Given the description of an element on the screen output the (x, y) to click on. 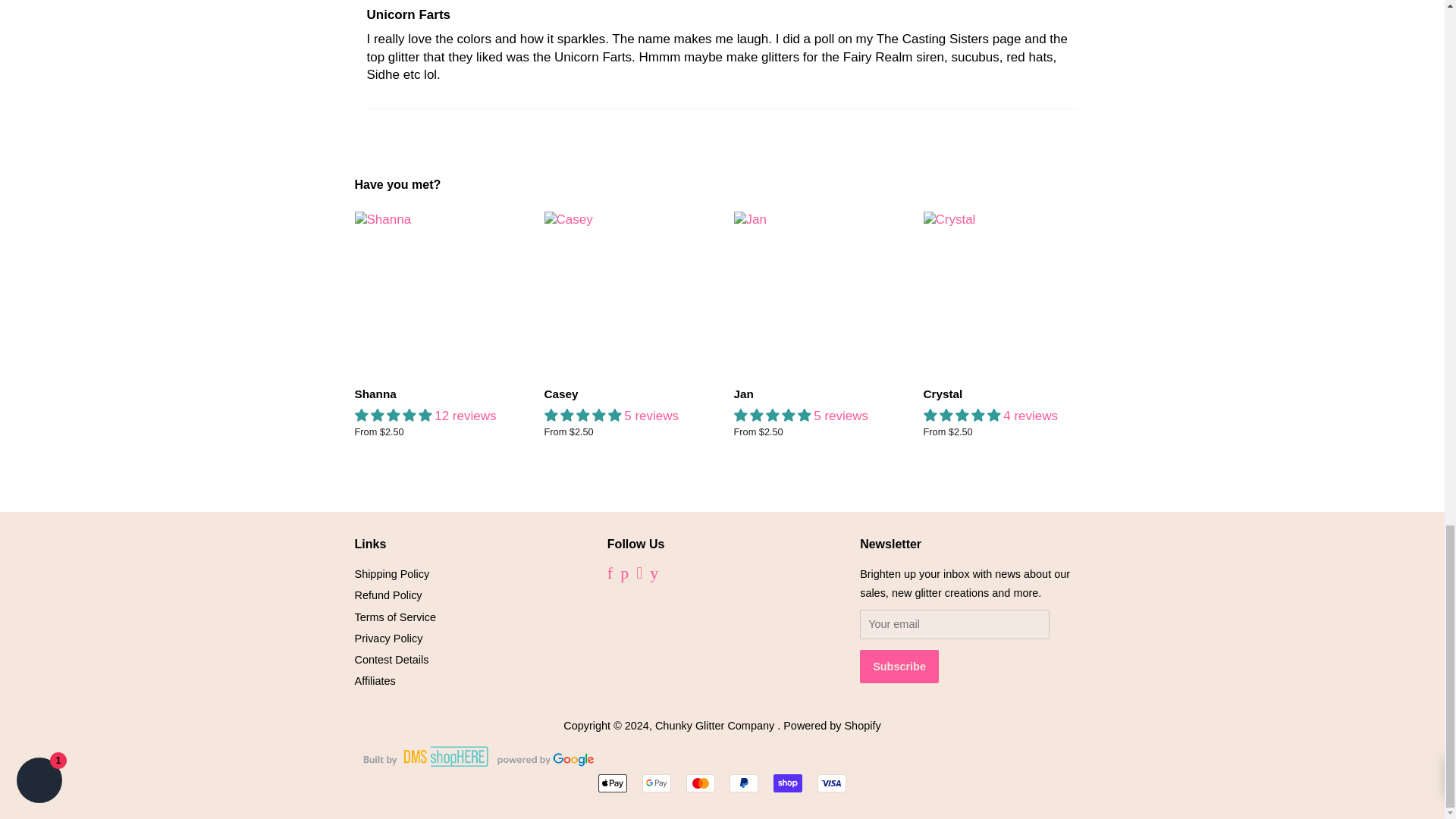
Subscribe (899, 666)
Shop Pay (787, 782)
Google Pay (656, 782)
Visa (830, 782)
Apple Pay (612, 782)
Mastercard (699, 782)
PayPal (743, 782)
